Given the description of an element on the screen output the (x, y) to click on. 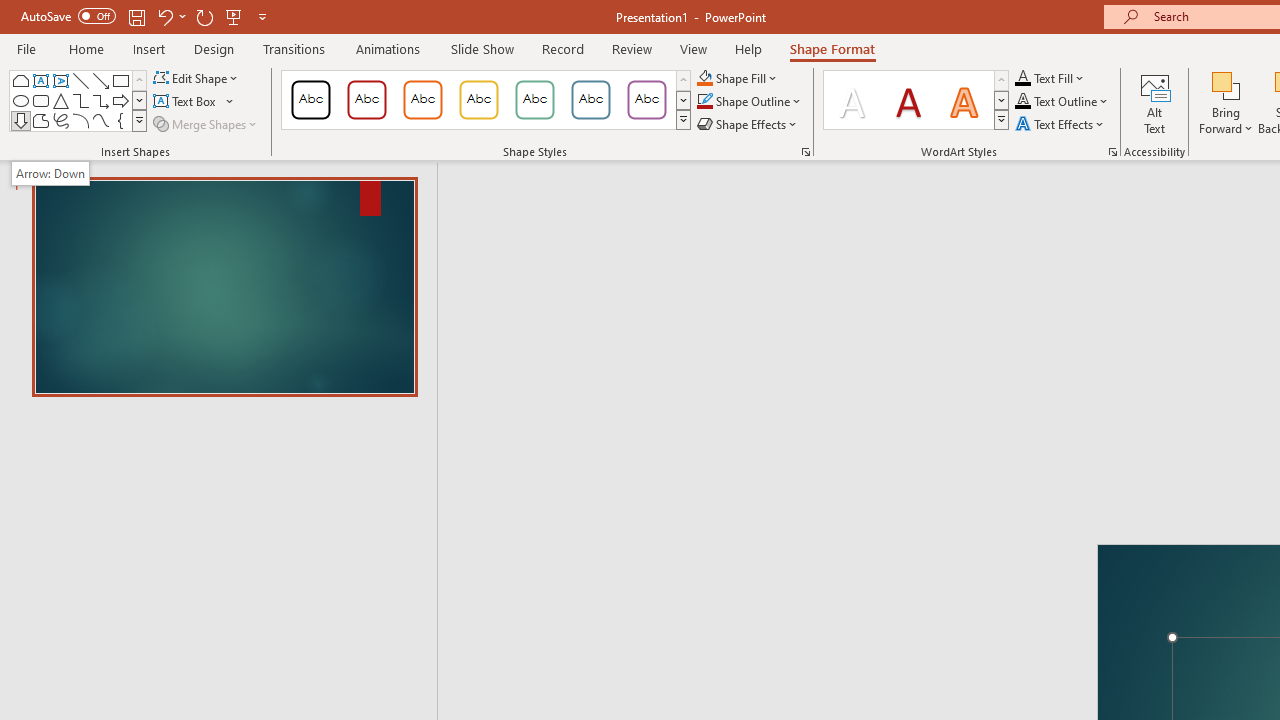
Bring Forward (1225, 102)
Rectangle: Top Corners Snipped (20, 80)
Text Fill (1050, 78)
Fill: Dark Red, Accent color 1; Shadow (908, 100)
Arrow: Down (50, 173)
AutomationID: ShapeStylesGallery (486, 99)
AutomationID: TextStylesGallery (916, 99)
Edit Shape (196, 78)
Colored Outline - Black, Dark 1 (310, 100)
